Given the description of an element on the screen output the (x, y) to click on. 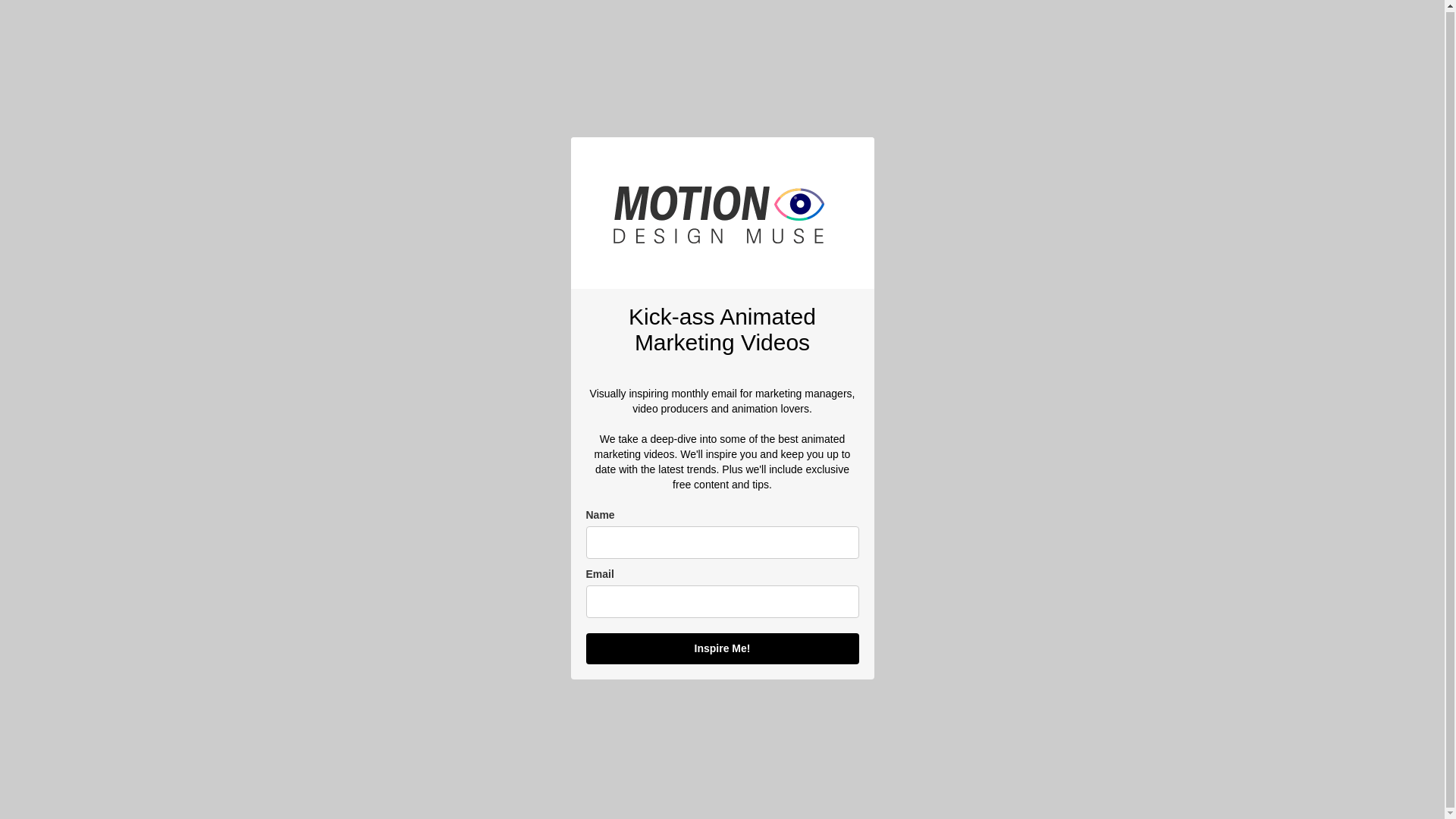
Inspire Me! (722, 648)
